Given the description of an element on the screen output the (x, y) to click on. 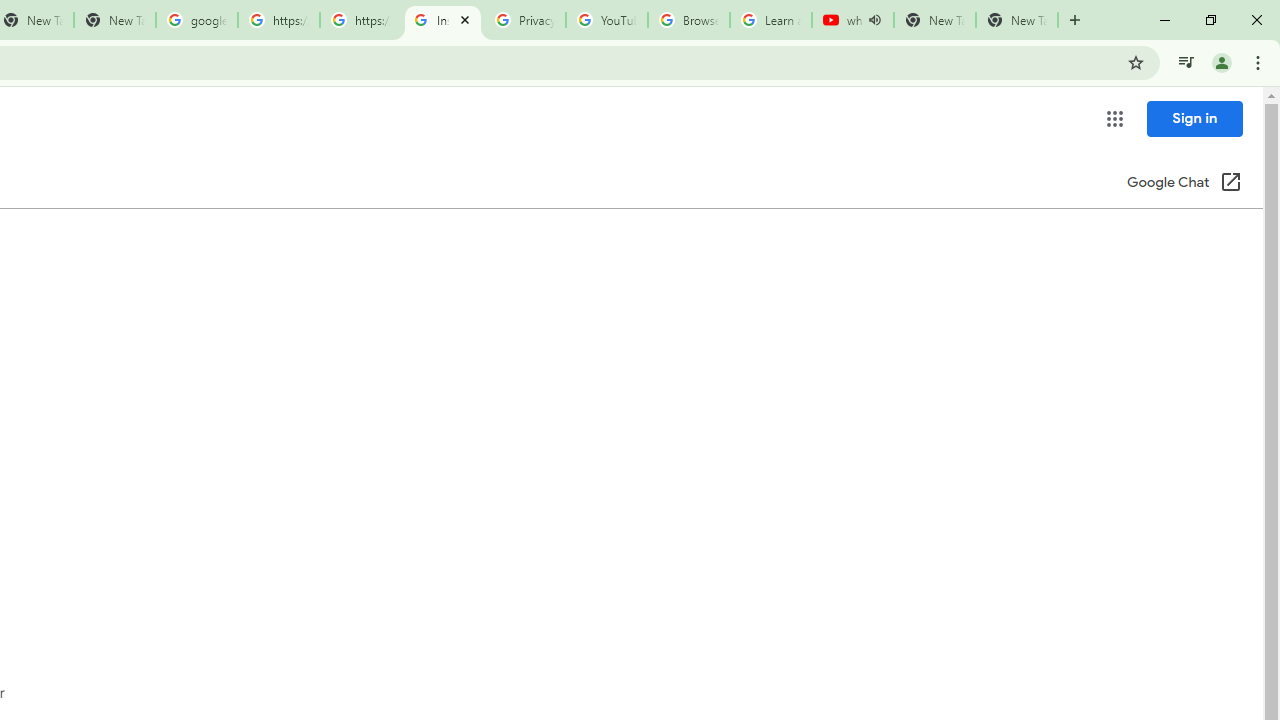
Mute tab (874, 20)
Google Chat (Open in a new window) (1184, 183)
Browse Chrome as a guest - Computer - Google Chrome Help (688, 20)
New Tab (1016, 20)
https://scholar.google.com/ (360, 20)
https://scholar.google.com/ (278, 20)
YouTube (606, 20)
Install the Google Chat standalone app - Google Chat Help (442, 20)
